Given the description of an element on the screen output the (x, y) to click on. 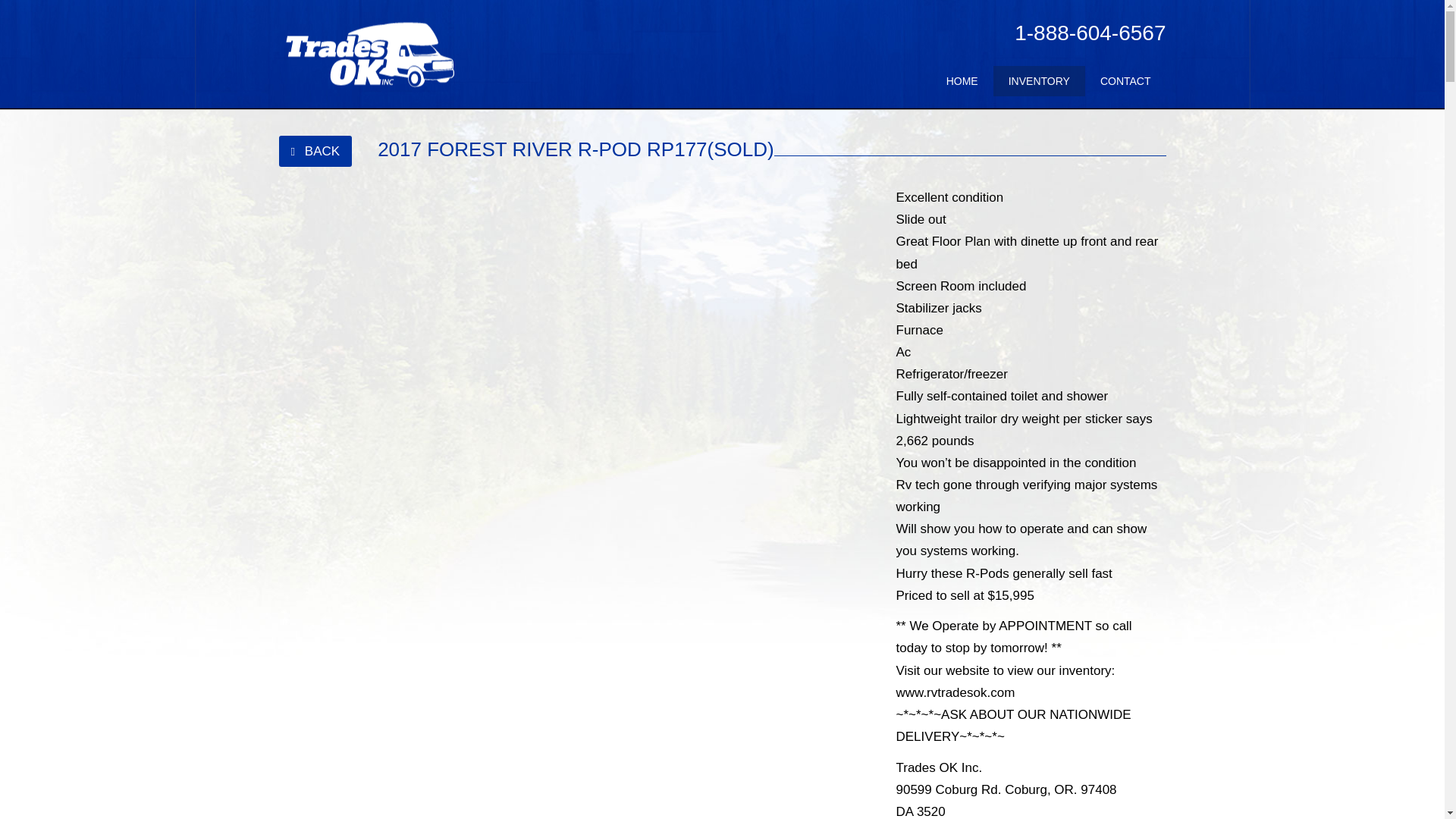
Back to Inventory (315, 151)
BACK (315, 151)
Trades OK, INC (371, 54)
HOME (961, 81)
CONTACT (1125, 81)
INVENTORY (1038, 81)
1-888-604-6567 (1090, 33)
